Given the description of an element on the screen output the (x, y) to click on. 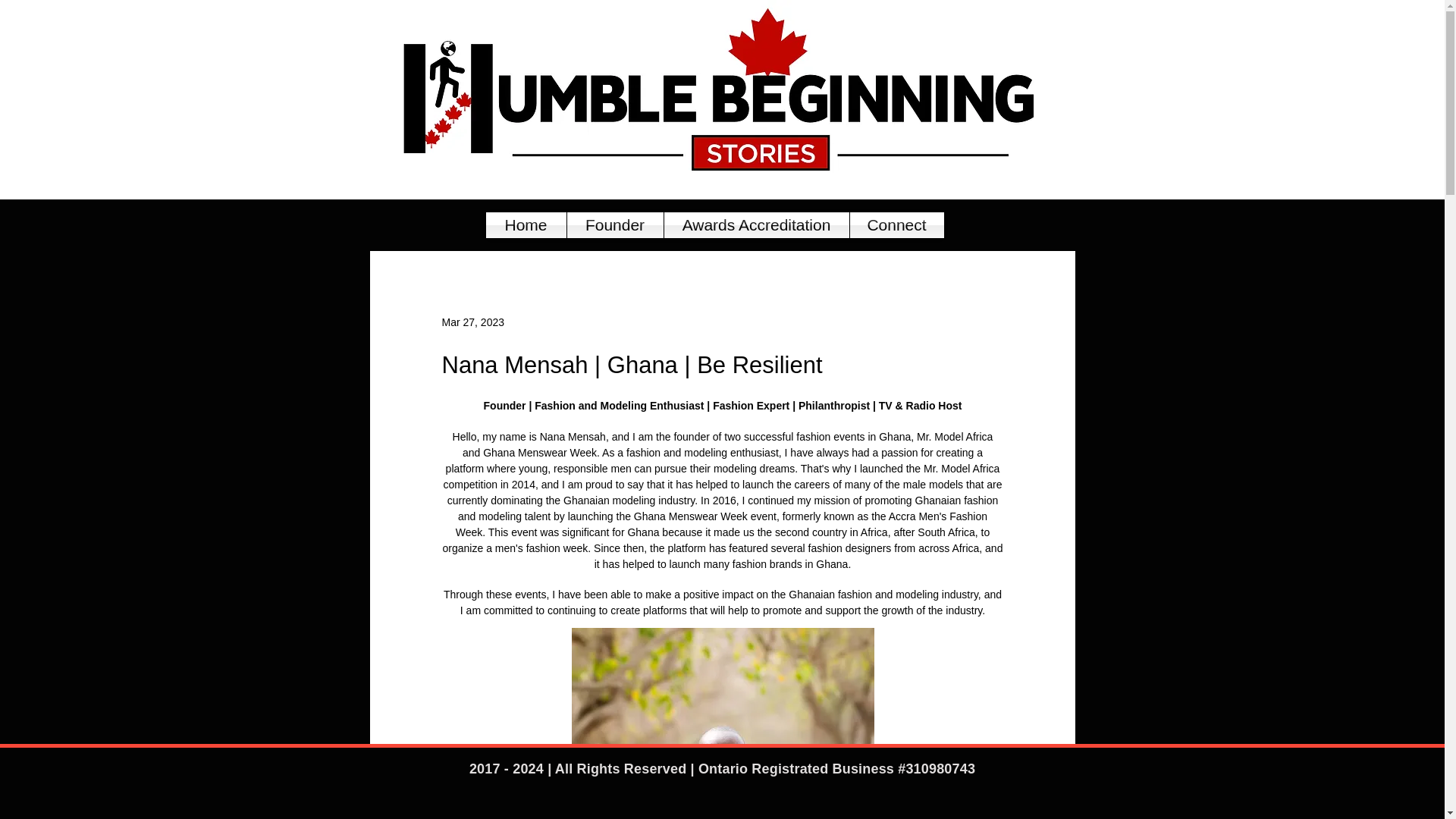
Founder (615, 225)
Home (525, 225)
Mar 27, 2023 (472, 321)
Awards Accreditation (755, 225)
Connect (895, 225)
